Given the description of an element on the screen output the (x, y) to click on. 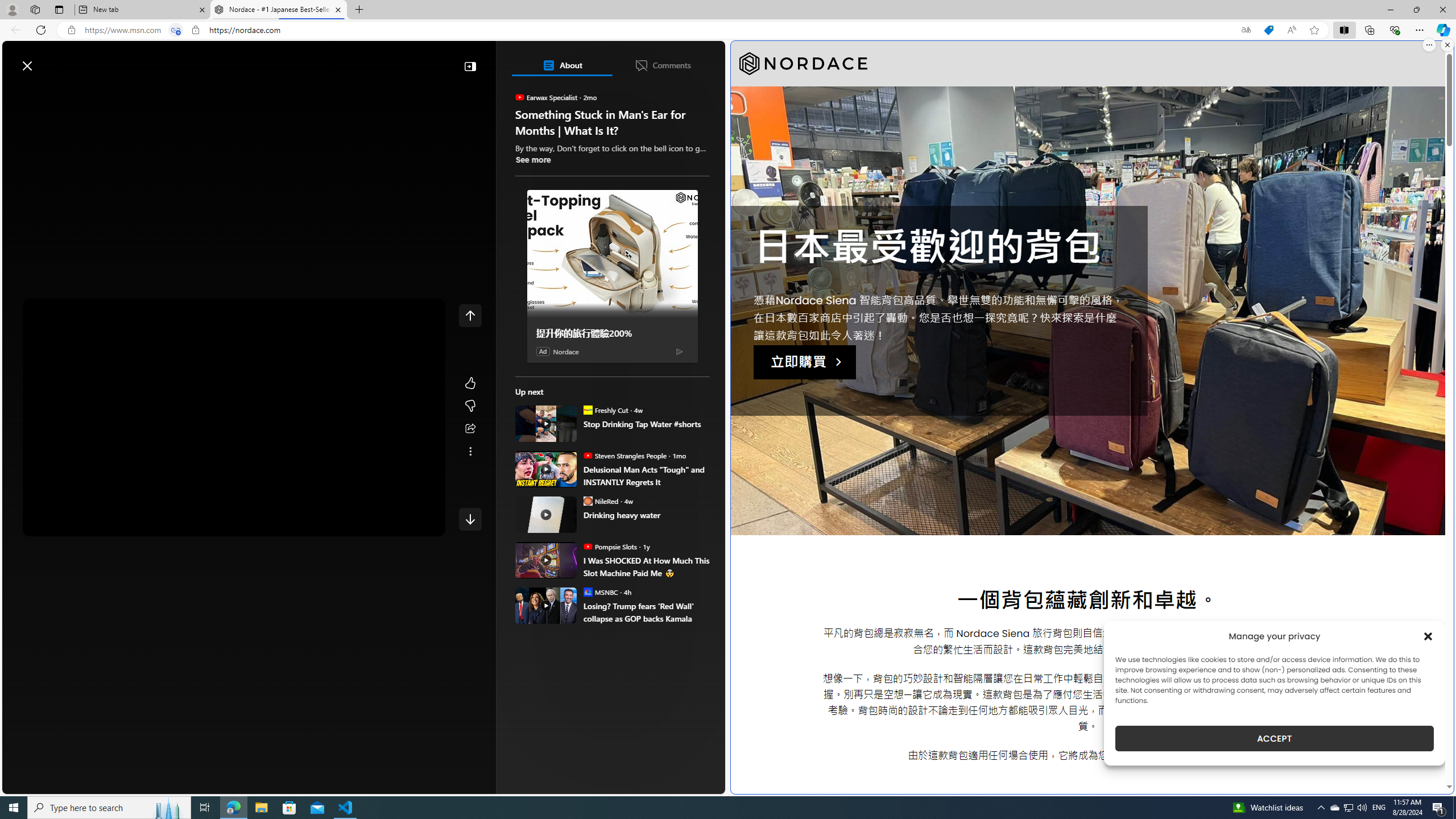
Notifications (676, 60)
Address and search bar (658, 29)
Collapse (469, 65)
Pompsie Slots (587, 546)
Open Copilot (566, 59)
NileRed NileRed (600, 500)
Delusional Man Acts "Tough" and INSTANTLY Regrets It (545, 468)
Class: cmplz-close (1428, 636)
Close split screen. (1447, 45)
